Given the description of an element on the screen output the (x, y) to click on. 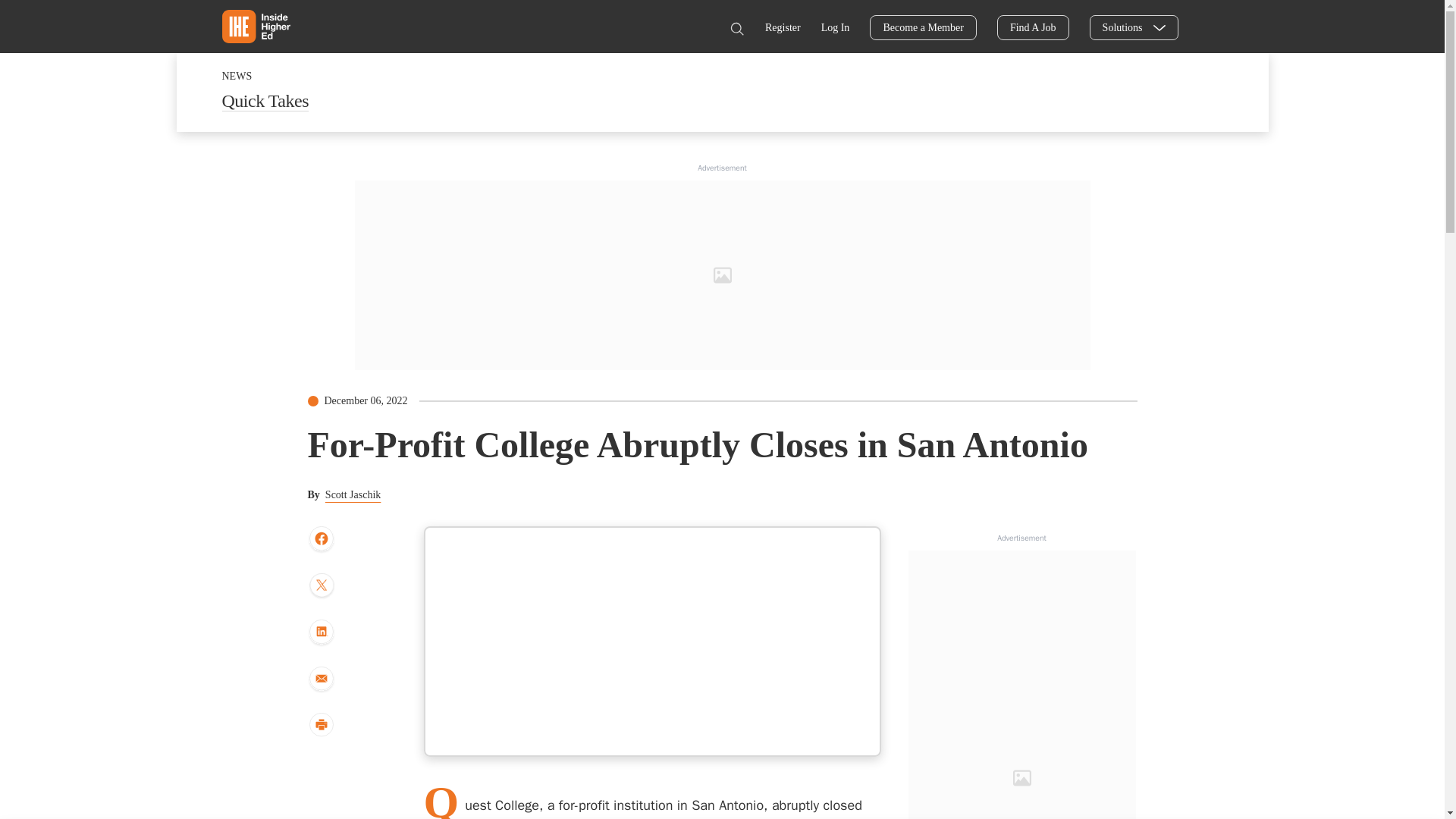
share by email (320, 679)
share to twitter (320, 586)
Become a Member (922, 27)
Home (255, 26)
Find A Job (1032, 27)
Search (736, 28)
share to Linkedin (320, 632)
share to facebook (320, 539)
